Given the description of an element on the screen output the (x, y) to click on. 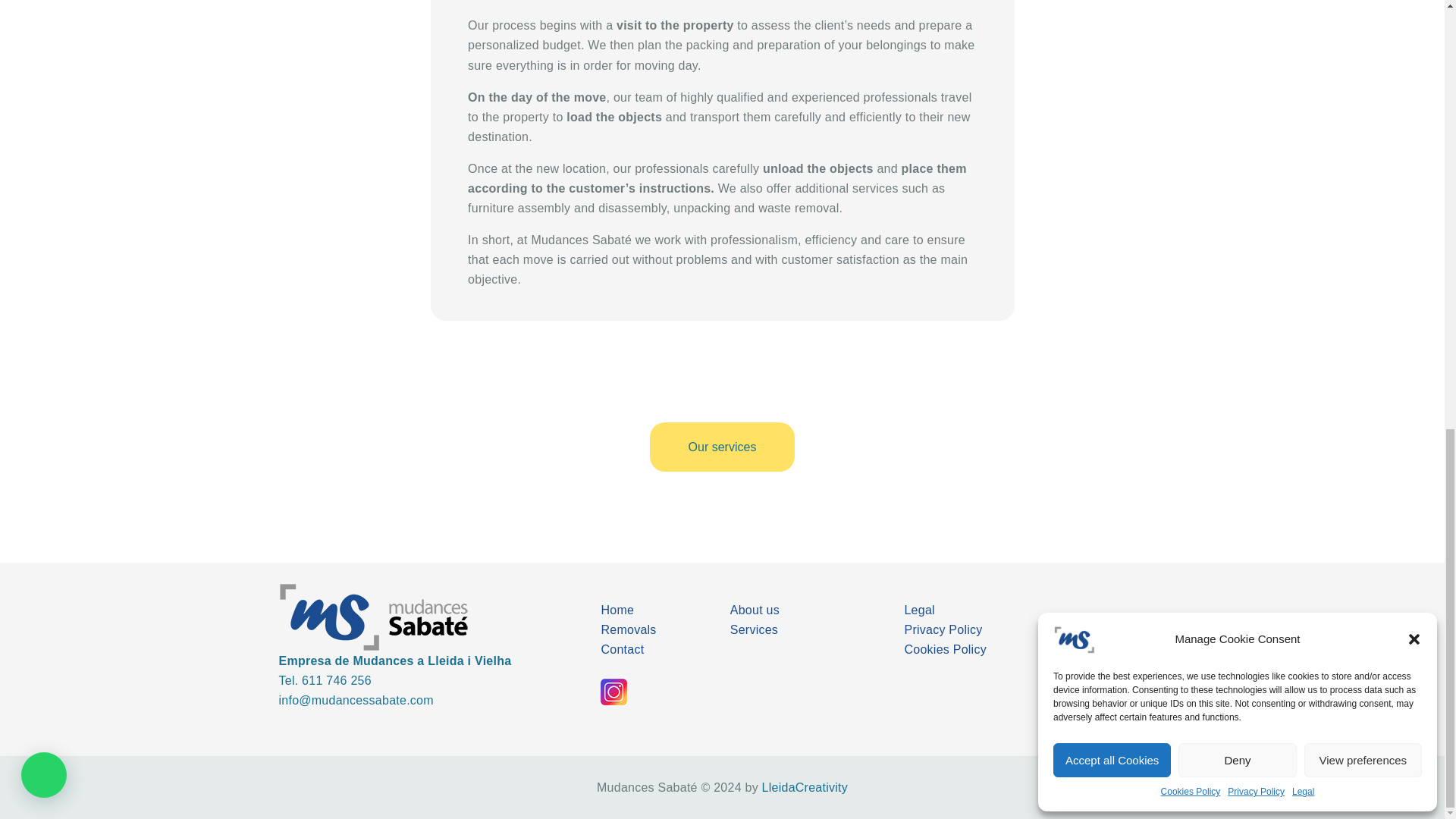
Our services (721, 446)
Tel. 611 746 256 (325, 680)
